Given the description of an element on the screen output the (x, y) to click on. 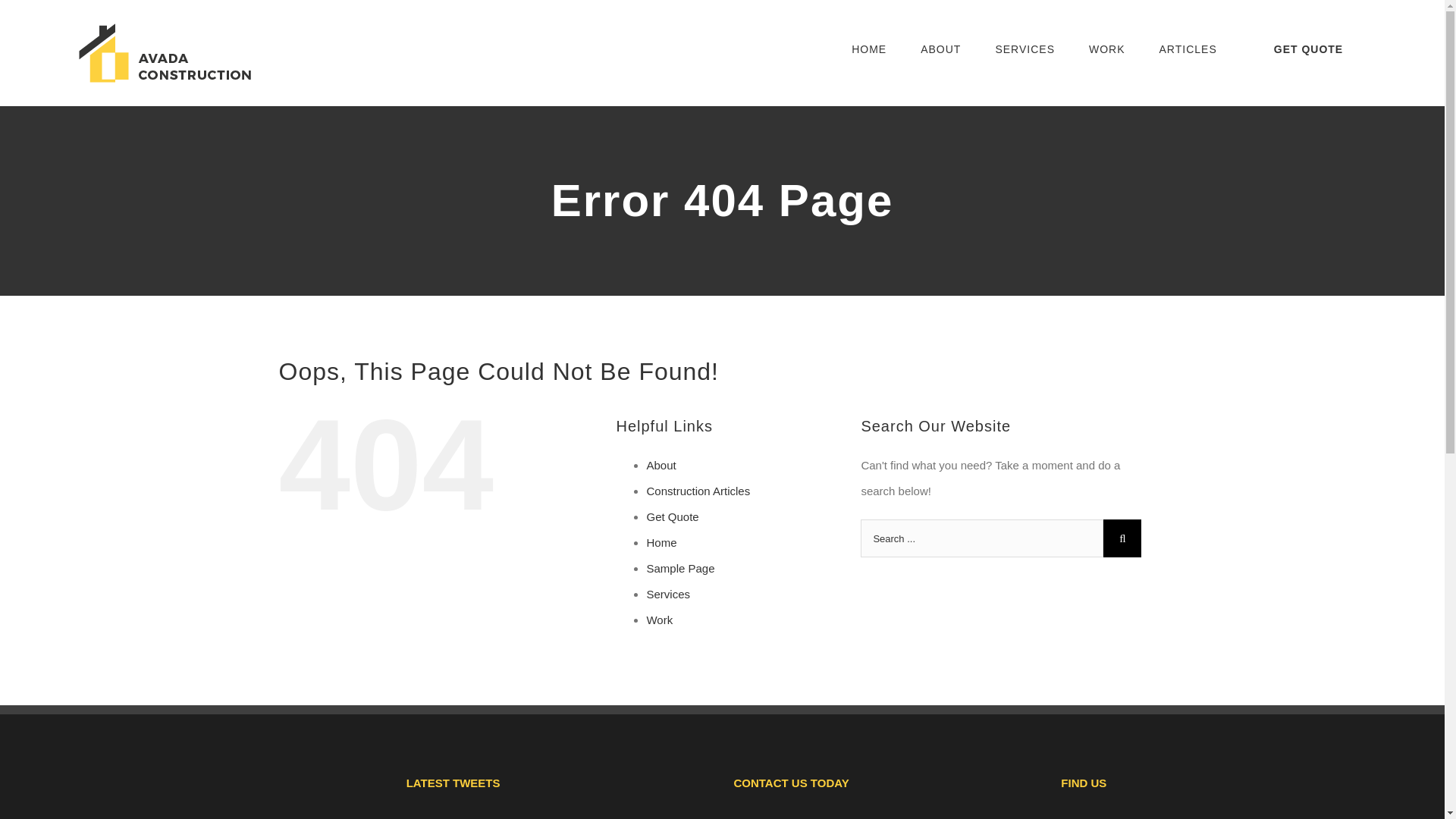
Sample Page (680, 567)
GET QUOTE (1307, 49)
Home (661, 542)
Construction Articles (697, 490)
Services (668, 594)
Work (659, 619)
Get Quote (672, 516)
About (660, 464)
